Given the description of an element on the screen output the (x, y) to click on. 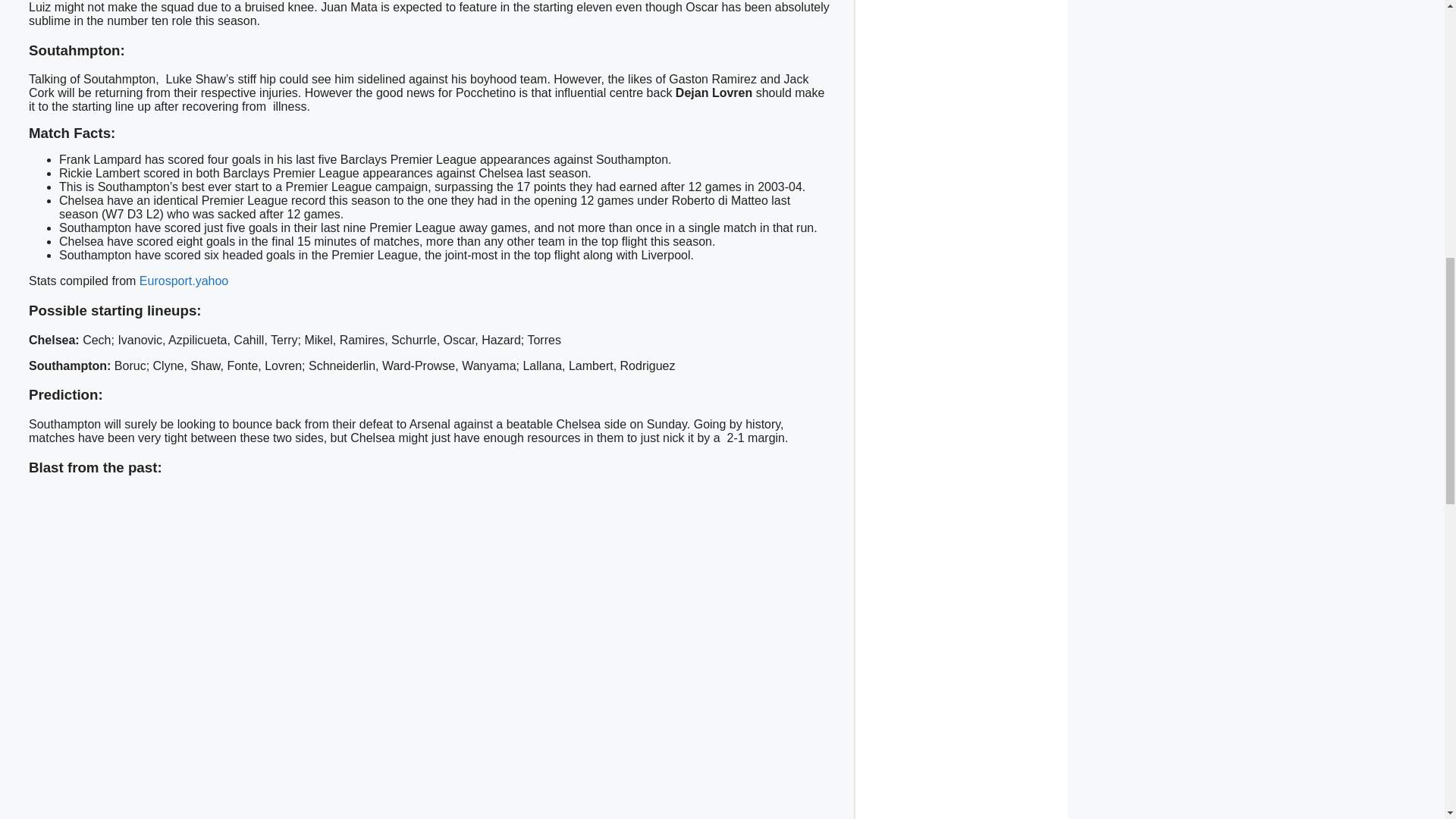
Eurosport.yahoo (181, 280)
